Given the description of an element on the screen output the (x, y) to click on. 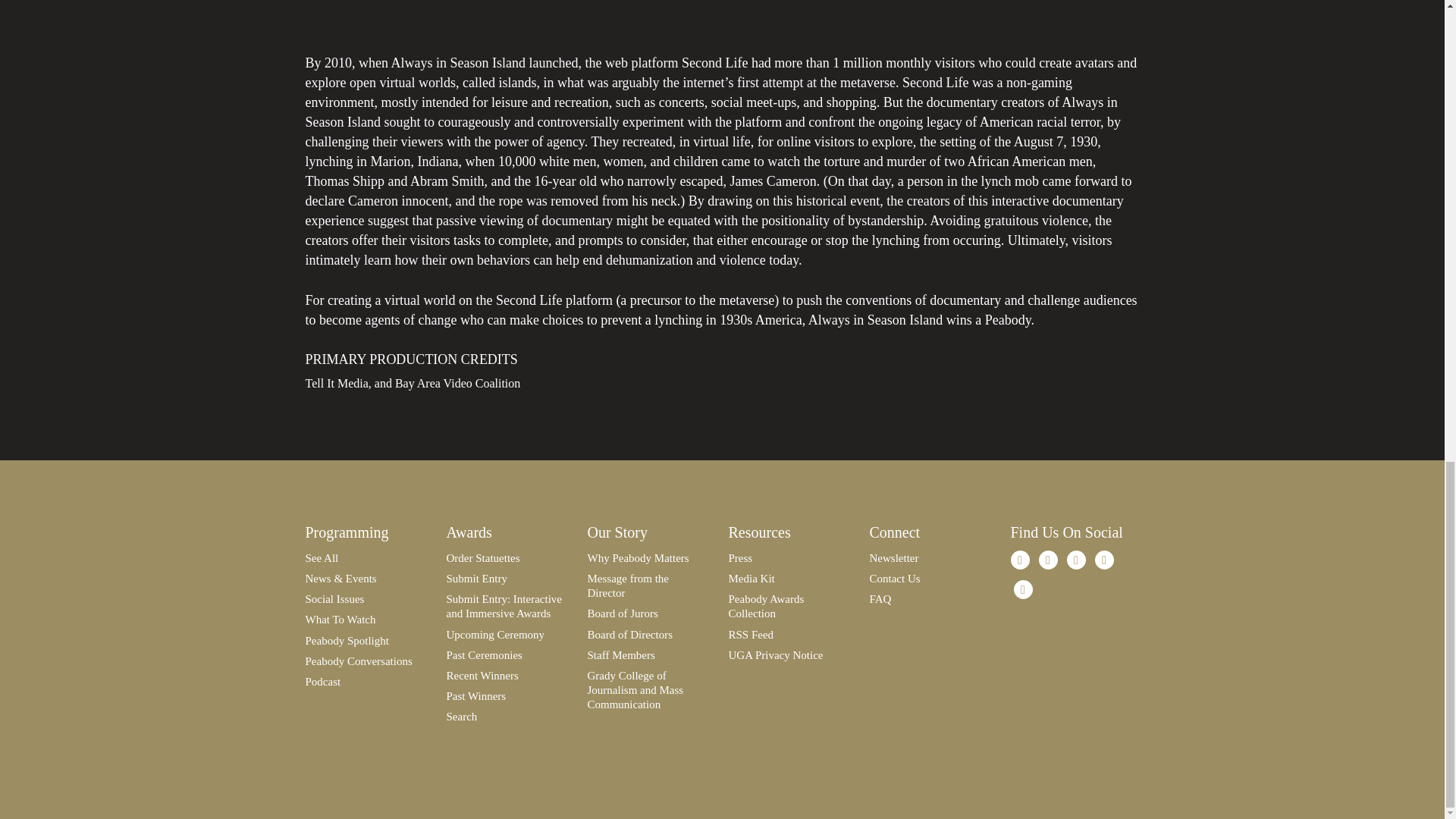
Podcast (322, 681)
Order Statuettes (482, 558)
Peabody Conversations (358, 661)
Recent Winners (481, 675)
Staff Members (619, 654)
Past Winners (475, 695)
What To Watch (339, 619)
Media Kit (751, 578)
Why Peabody Matters (637, 558)
